Given the description of an element on the screen output the (x, y) to click on. 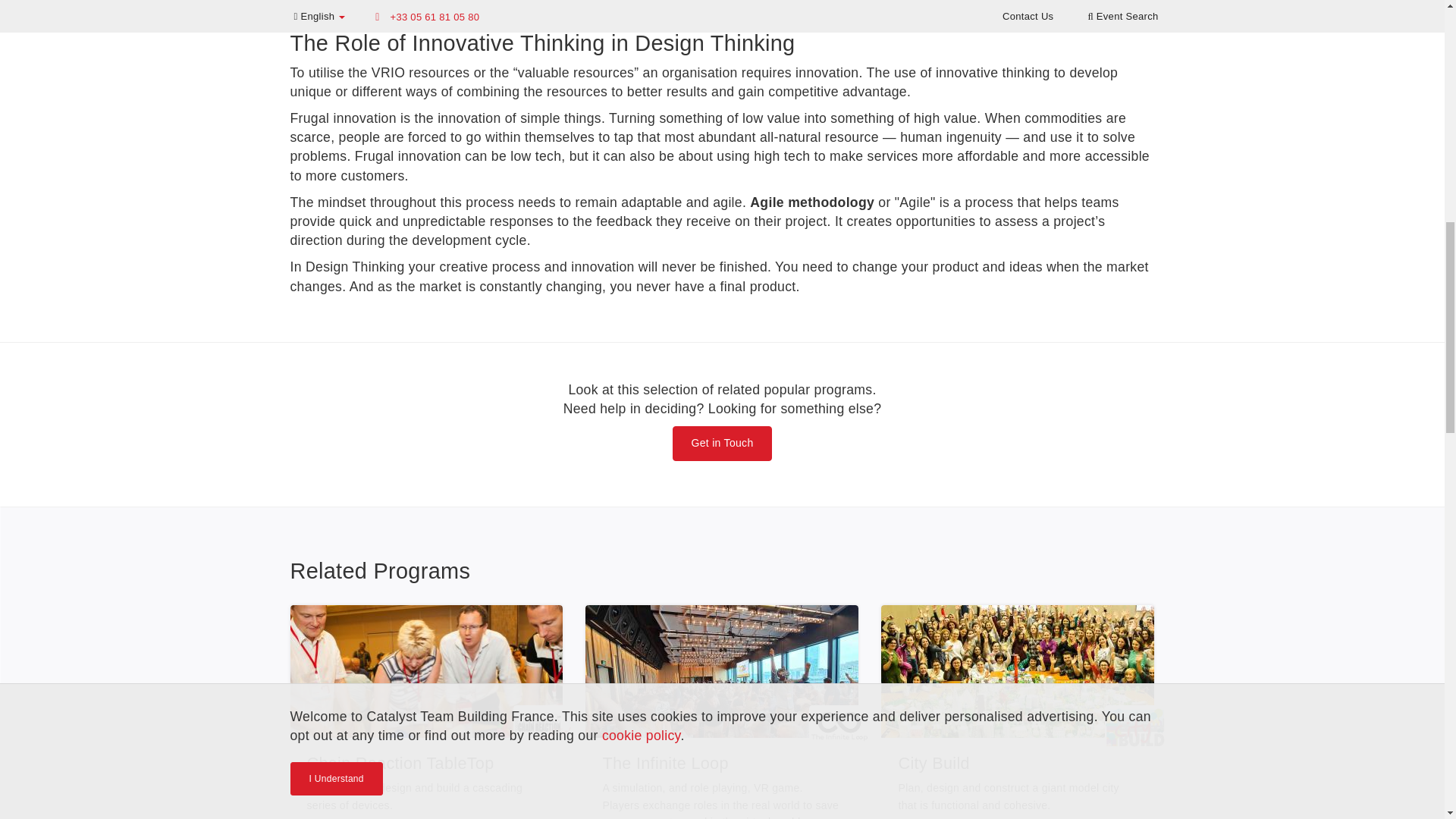
Get in Touch (722, 443)
